Given the description of an element on the screen output the (x, y) to click on. 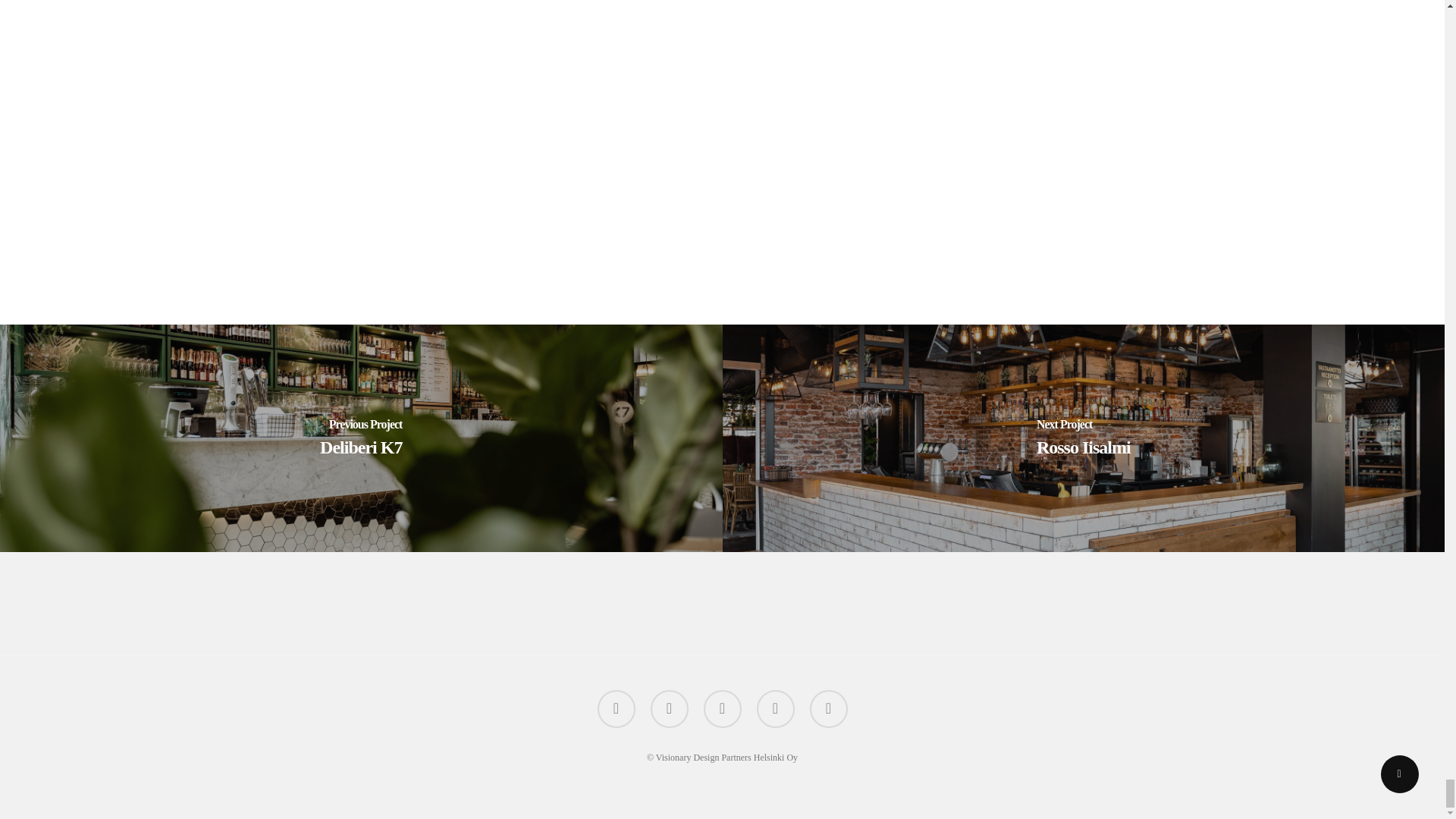
pinterest (722, 709)
facebook (669, 709)
linkedin (775, 709)
twitter (615, 709)
instagram (828, 709)
